Given the description of an element on the screen output the (x, y) to click on. 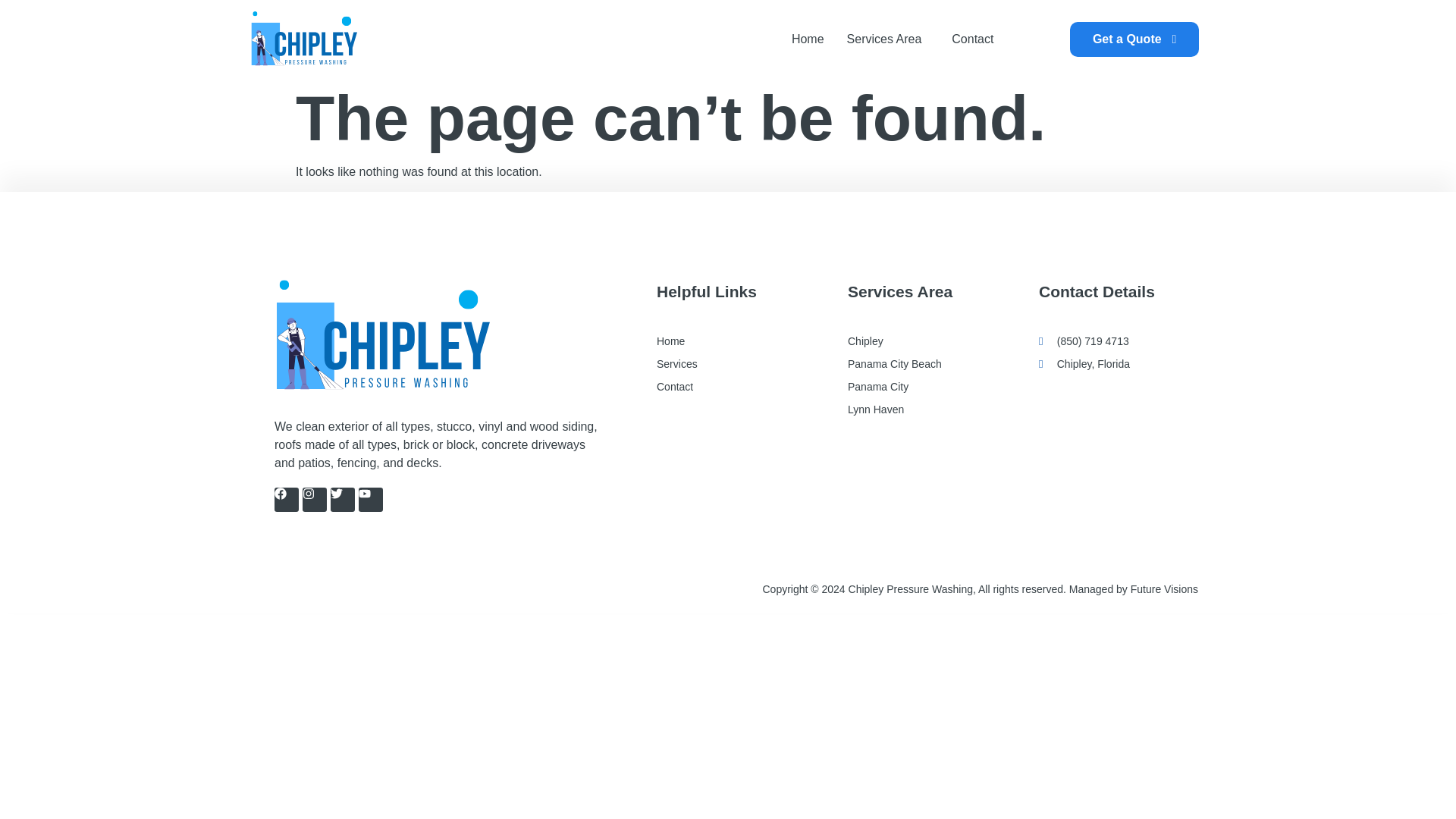
Future Visions (1164, 589)
Panama City (918, 386)
Contact (972, 39)
Lynn Haven (918, 409)
Panama City Beach (918, 363)
Home (807, 39)
Home (727, 341)
Services (727, 363)
Services Area (887, 39)
Chipley (918, 341)
Contact (727, 386)
Get a Quote (1134, 39)
